Given the description of an element on the screen output the (x, y) to click on. 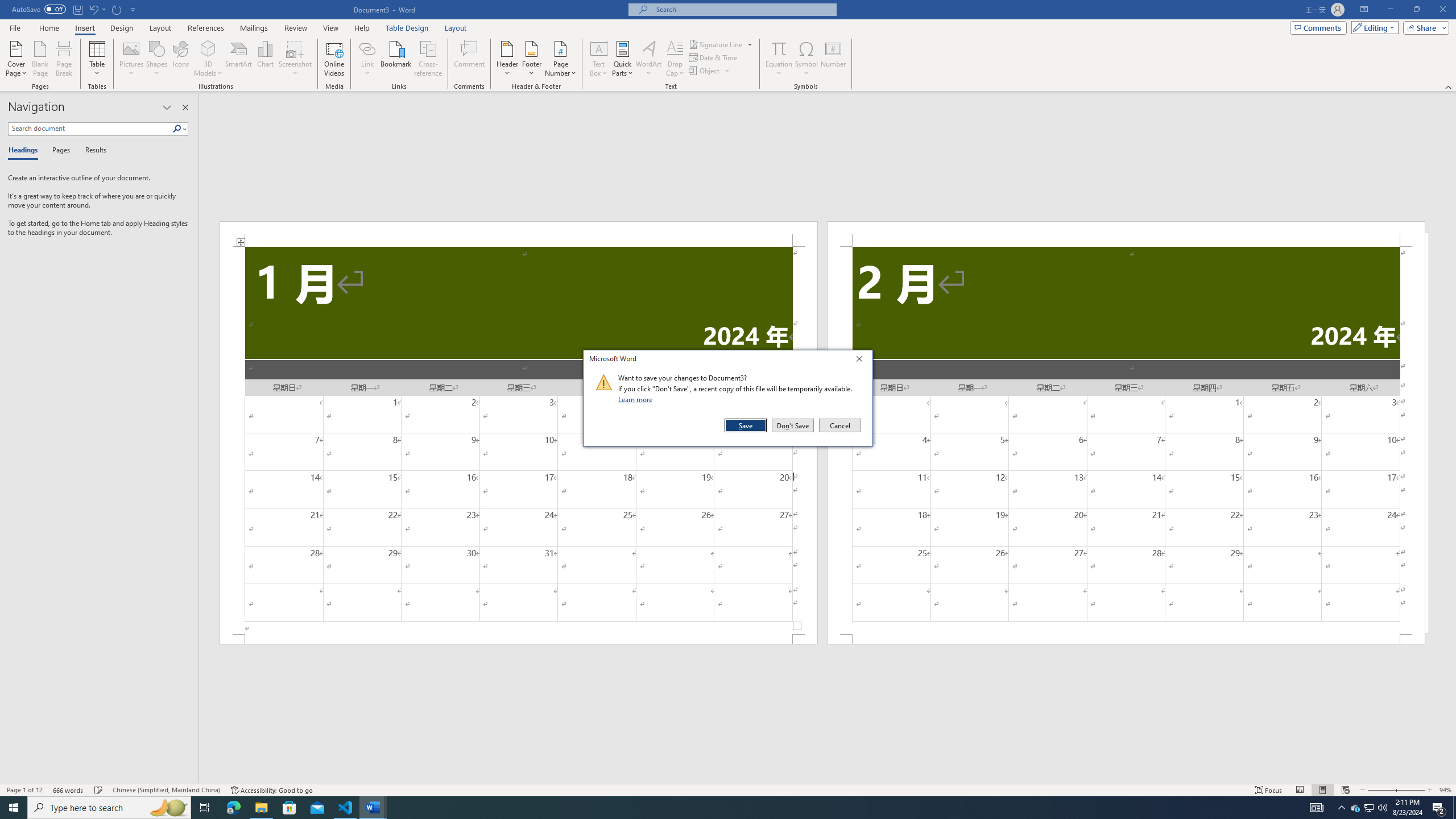
WordArt (648, 58)
Link (367, 58)
Don't Save (792, 425)
Language Chinese (Simplified, Mainland China) (165, 790)
Headings (25, 150)
Bookmark... (396, 58)
Word Count 666 words (68, 790)
Icons (180, 58)
